Given the description of an element on the screen output the (x, y) to click on. 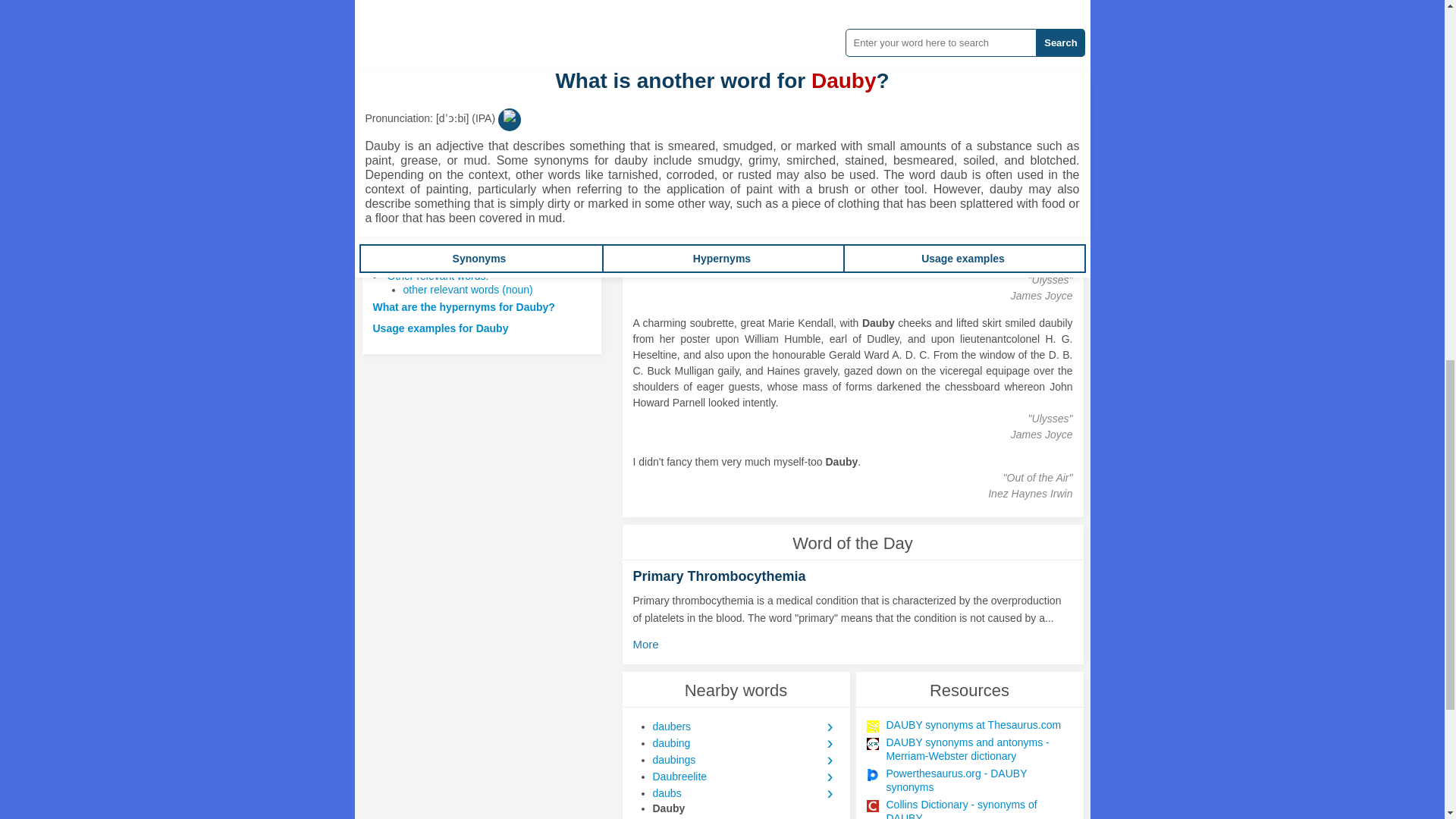
daubing (745, 742)
Applying (828, 181)
daubings (745, 759)
Smearing (935, 181)
DAUBY synonyms at Thesaurus.com (978, 725)
Decorating (879, 181)
Adorning (781, 181)
splattering (730, 181)
Daubreelite (745, 776)
Smudging (987, 181)
DAUBY synonyms and antonyms - Merriam-Webster dictionary (978, 748)
Powerthesaurus.org - DAUBY synonyms (978, 779)
Collins Dictionary - synonyms of DAUBY (978, 808)
Smeary (680, 31)
painting (681, 181)
